Given the description of an element on the screen output the (x, y) to click on. 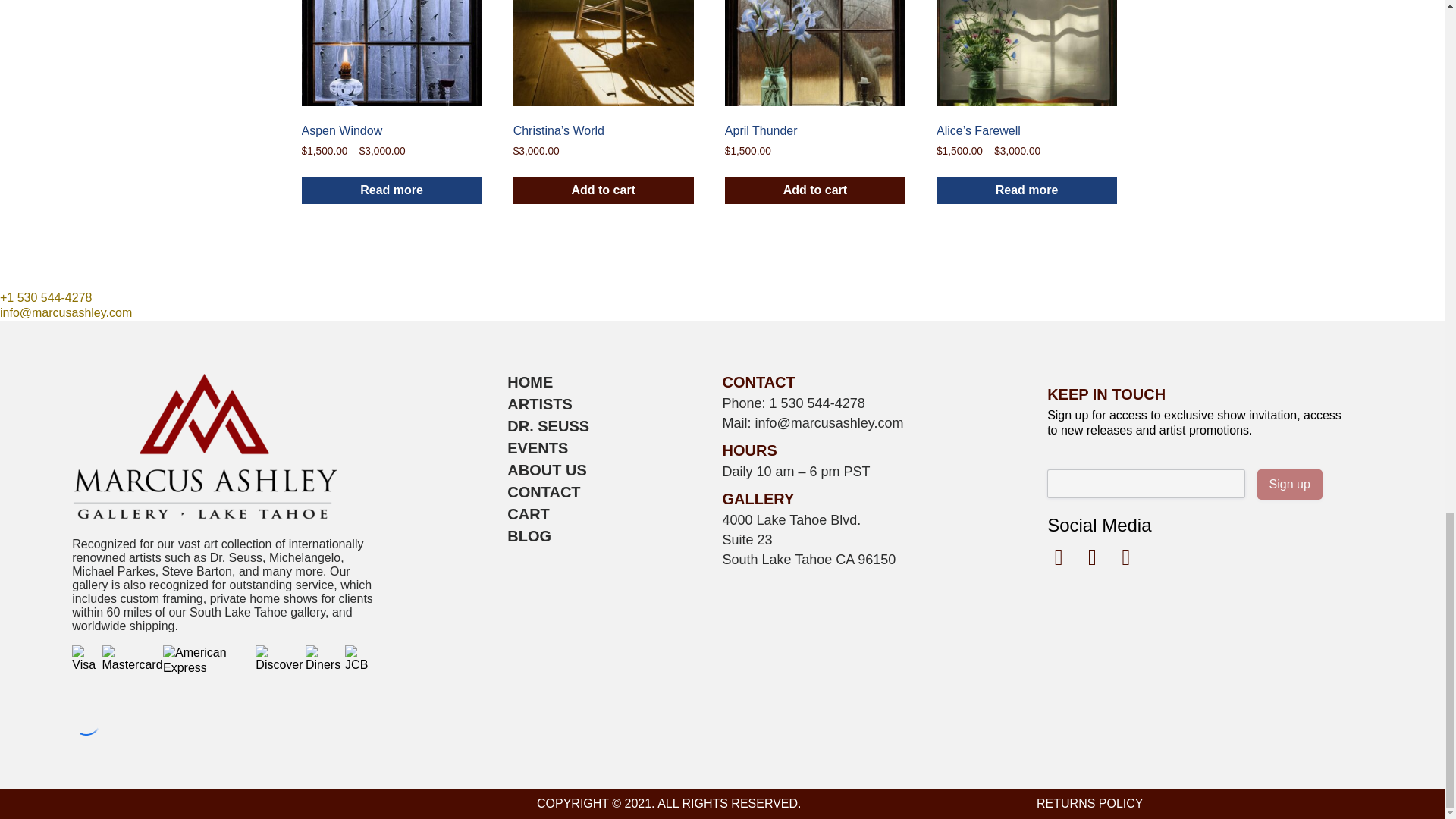
Google Review Widget (85, 720)
